Given the description of an element on the screen output the (x, y) to click on. 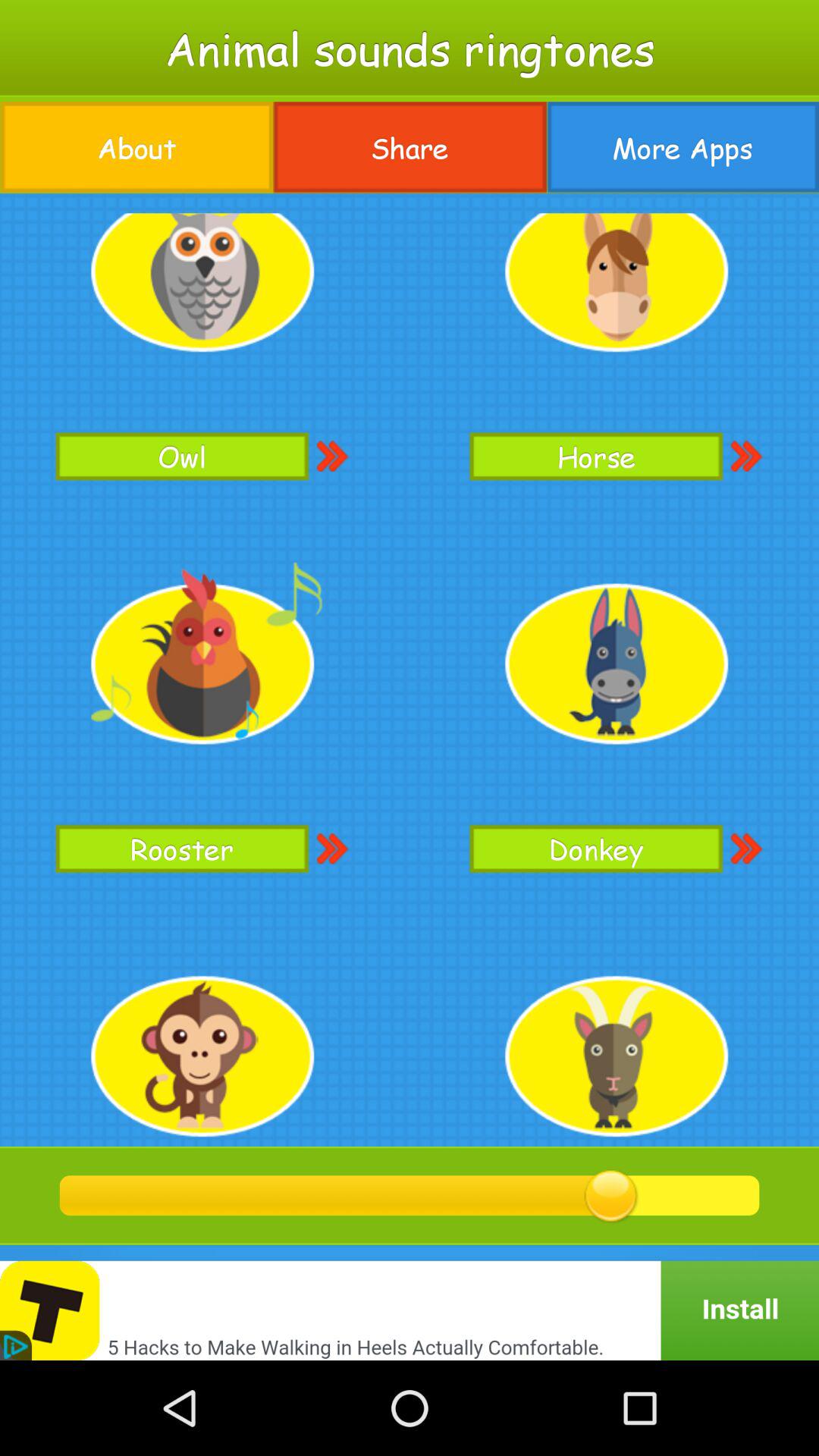
click the icon at the top left corner (136, 147)
